Given the description of an element on the screen output the (x, y) to click on. 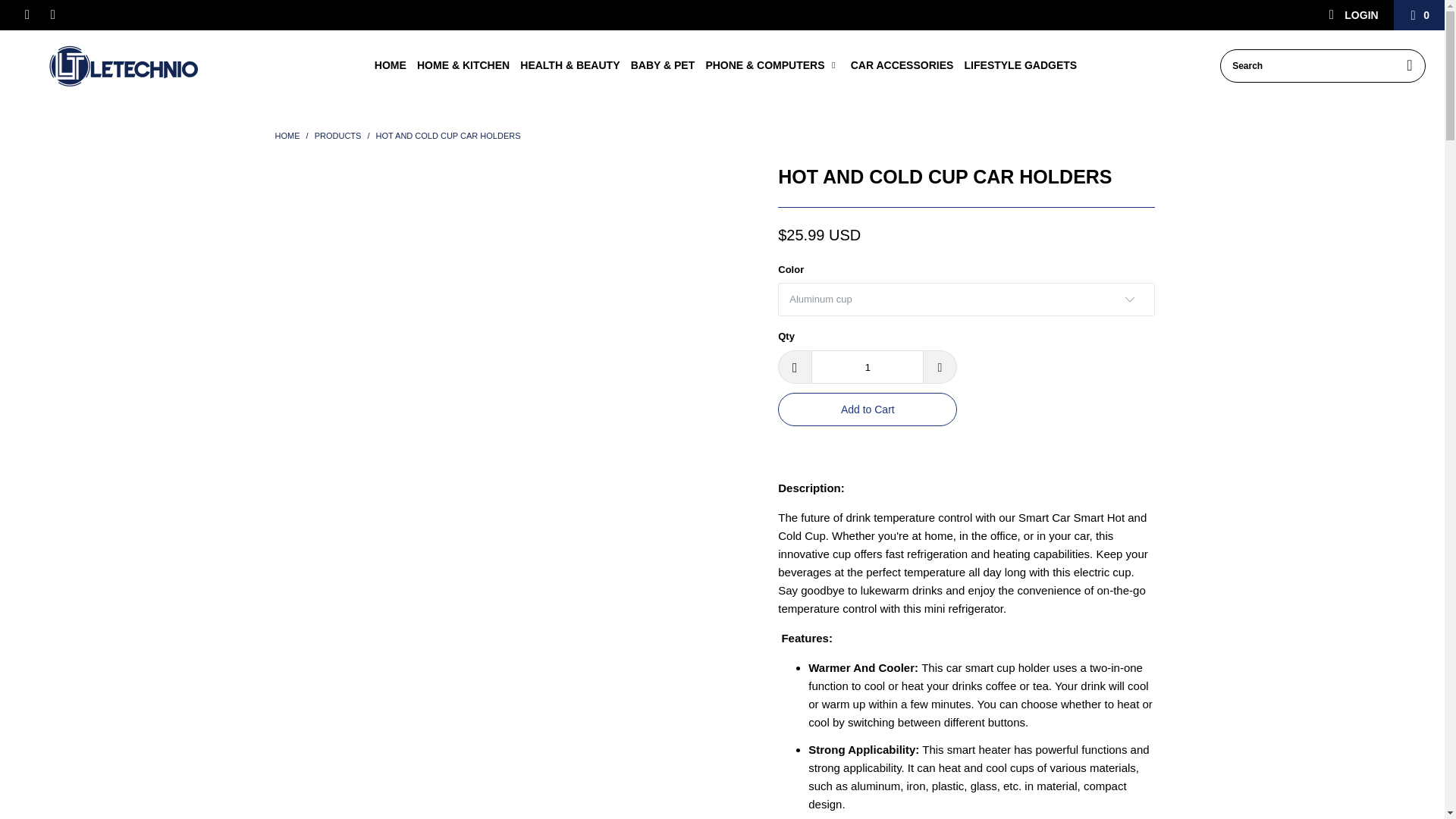
LIFESTYLE GADGETS (1020, 65)
LOGIN (1352, 15)
Products (339, 135)
HOT AND COLD CUP CAR HOLDERS (448, 135)
PRODUCTS (339, 135)
LeTechnio on Instagram (52, 15)
LeTechnio on Facebook (25, 15)
My Account  (1352, 15)
HOME (287, 135)
Add to Cart (866, 409)
